Given the description of an element on the screen output the (x, y) to click on. 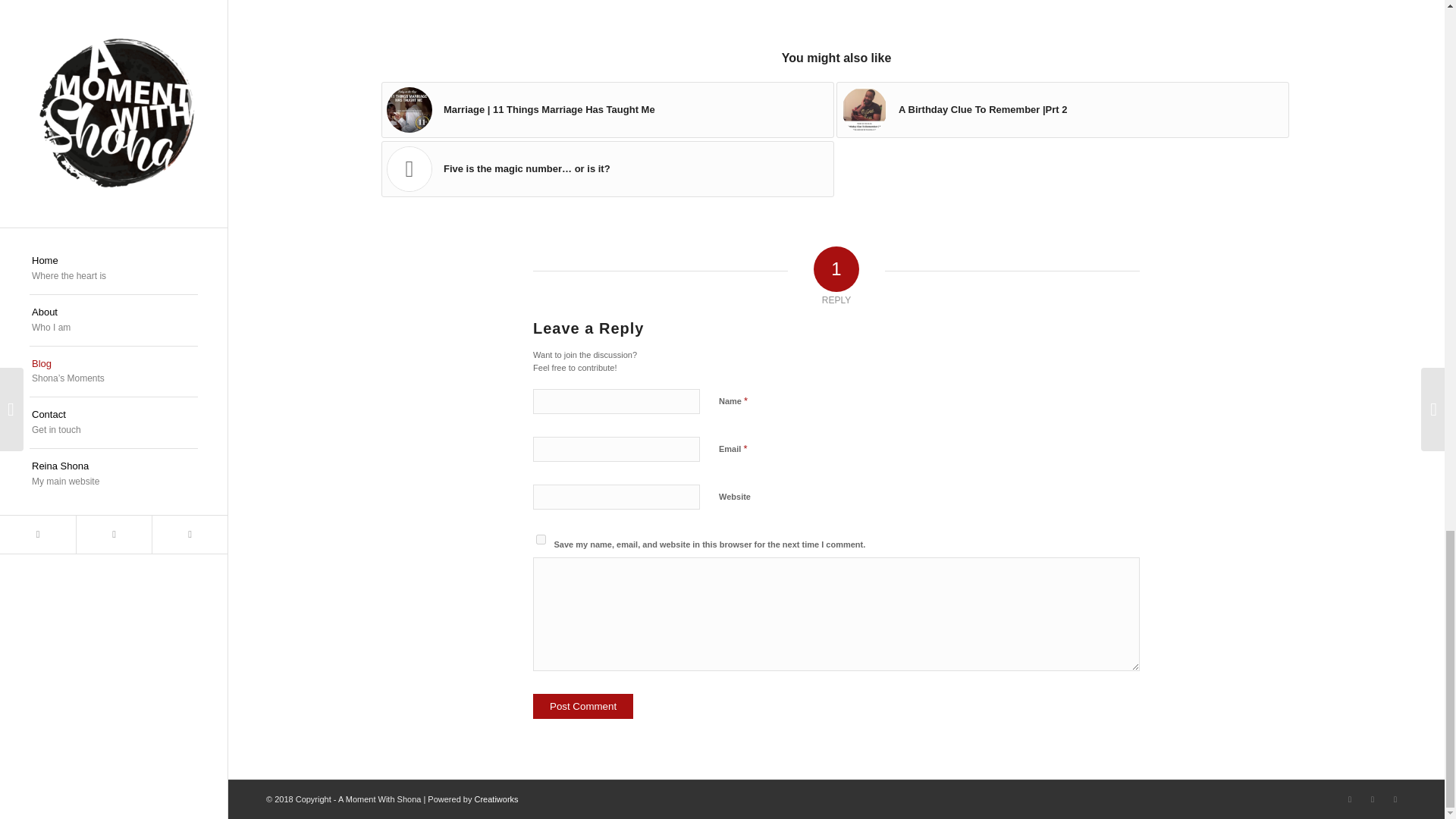
yes (540, 539)
Post Comment (582, 706)
Creatiworks (496, 798)
Post Comment (582, 706)
